Given the description of an element on the screen output the (x, y) to click on. 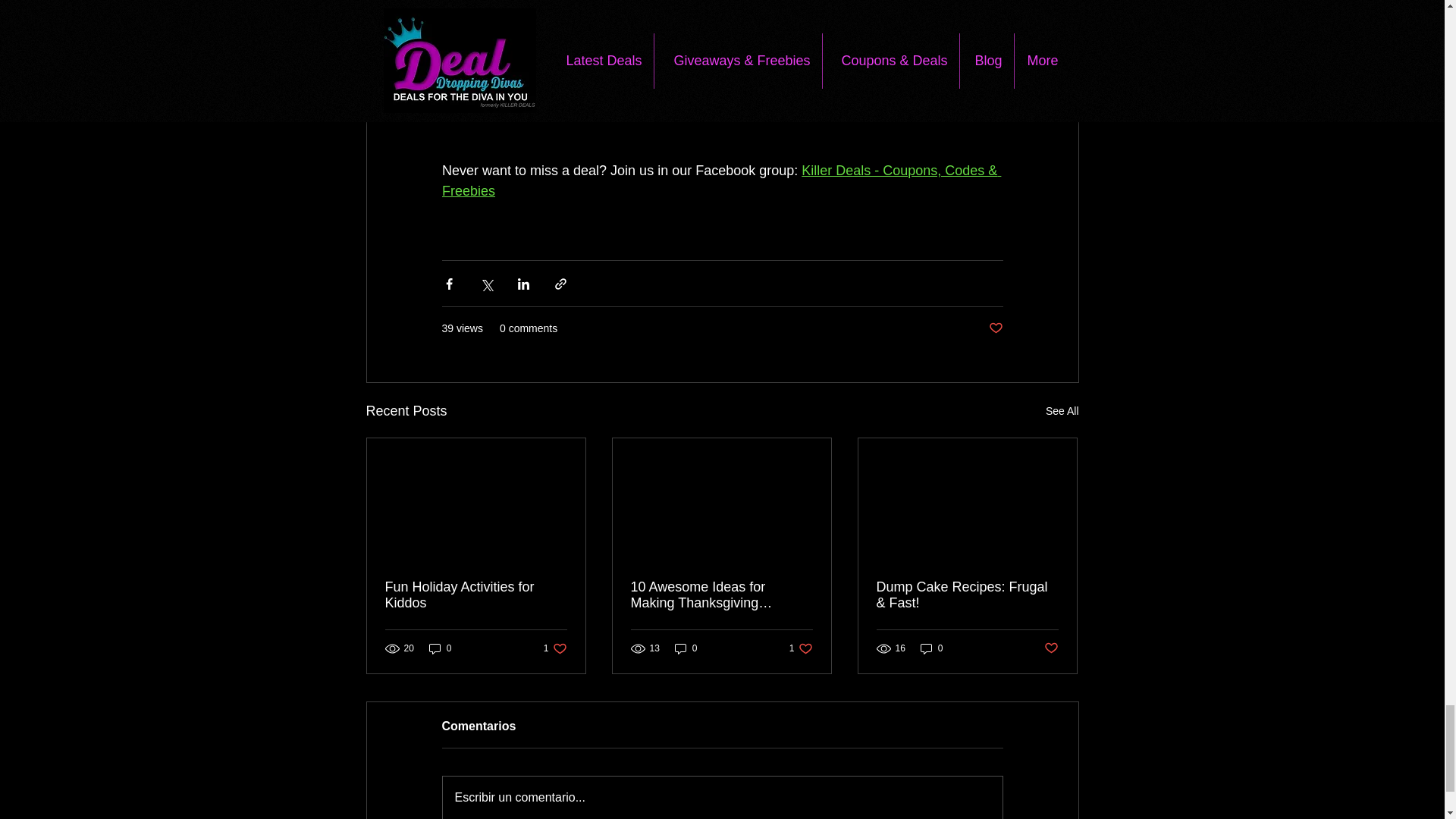
Fun Holiday Activities for Kiddos (476, 594)
0 (440, 648)
0 (685, 648)
Post not marked as liked (555, 648)
Post not marked as liked (1050, 648)
See All (995, 328)
0 (1061, 411)
Escribir un comentario... (931, 648)
10 Awesome Ideas for Making Thanksgiving Preparation Better (800, 648)
